Given the description of an element on the screen output the (x, y) to click on. 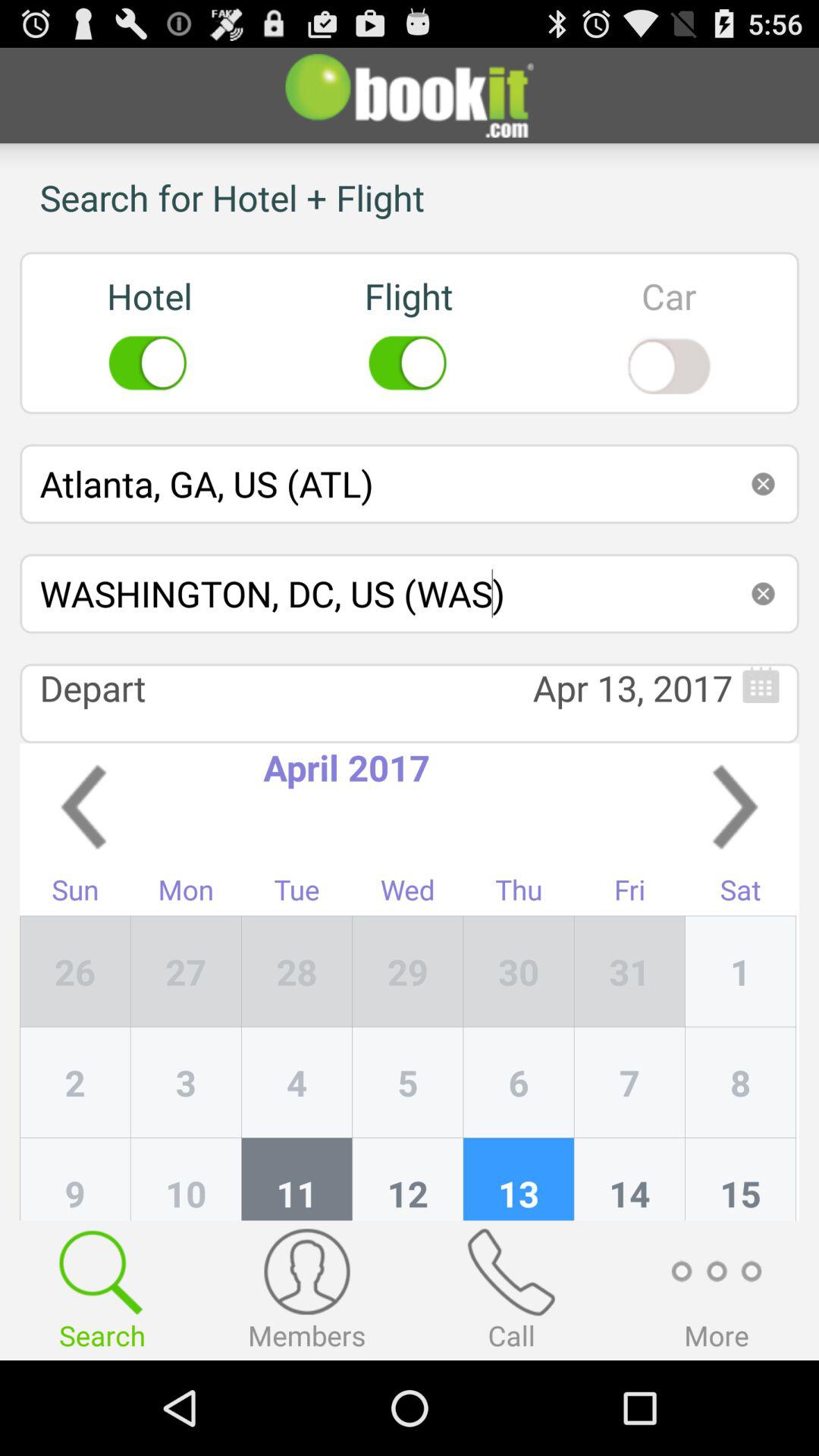
open the item below the 2 item (185, 1179)
